Given the description of an element on the screen output the (x, y) to click on. 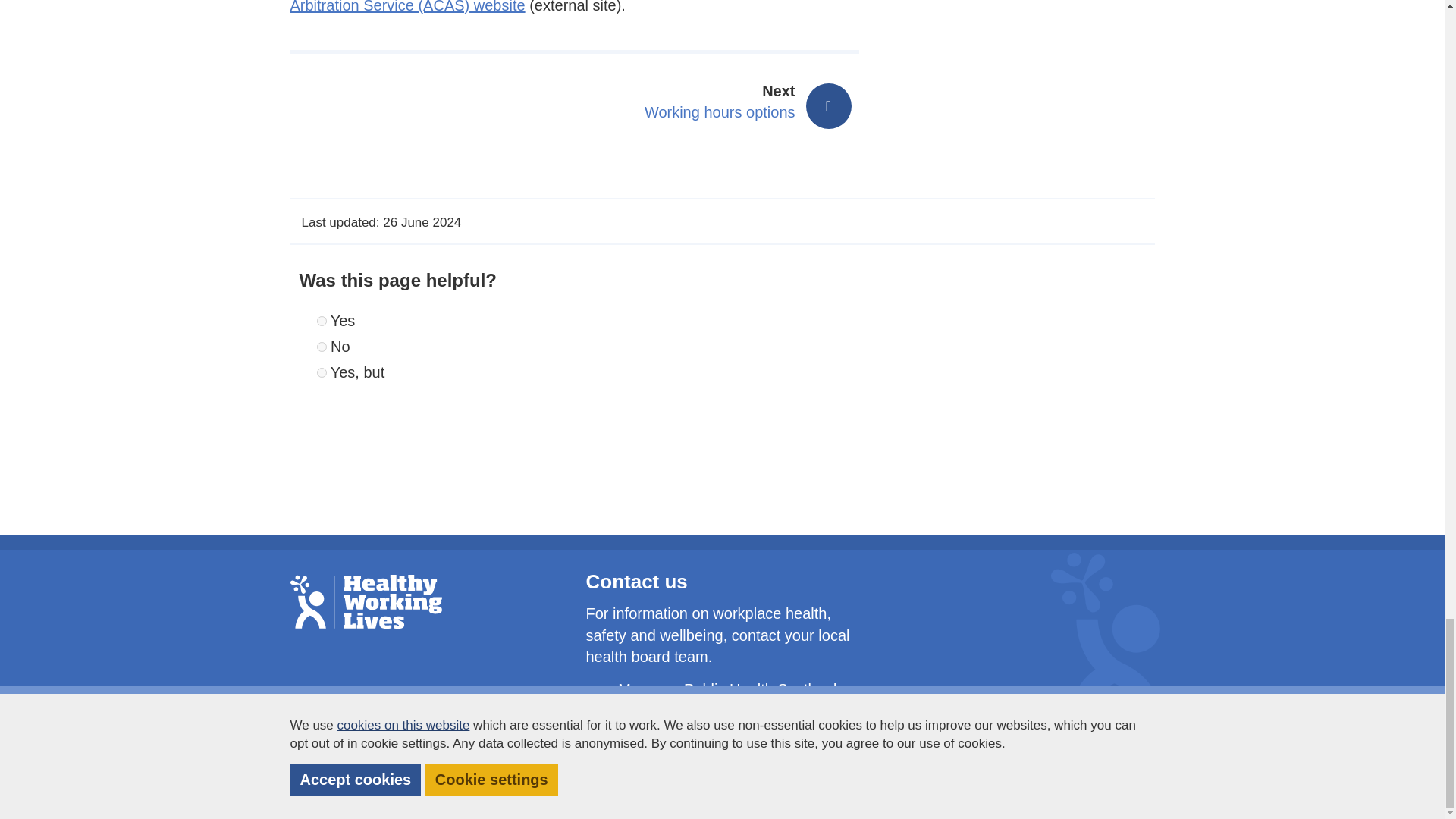
Terms and conditions (1063, 771)
Our organisation (704, 771)
Cookies (973, 771)
Yes, but (321, 372)
Return to the homepage (722, 102)
Privacy information (365, 601)
Message Public Health Scotland (888, 771)
Accessibility (726, 688)
No (793, 771)
Yes (321, 347)
